Given the description of an element on the screen output the (x, y) to click on. 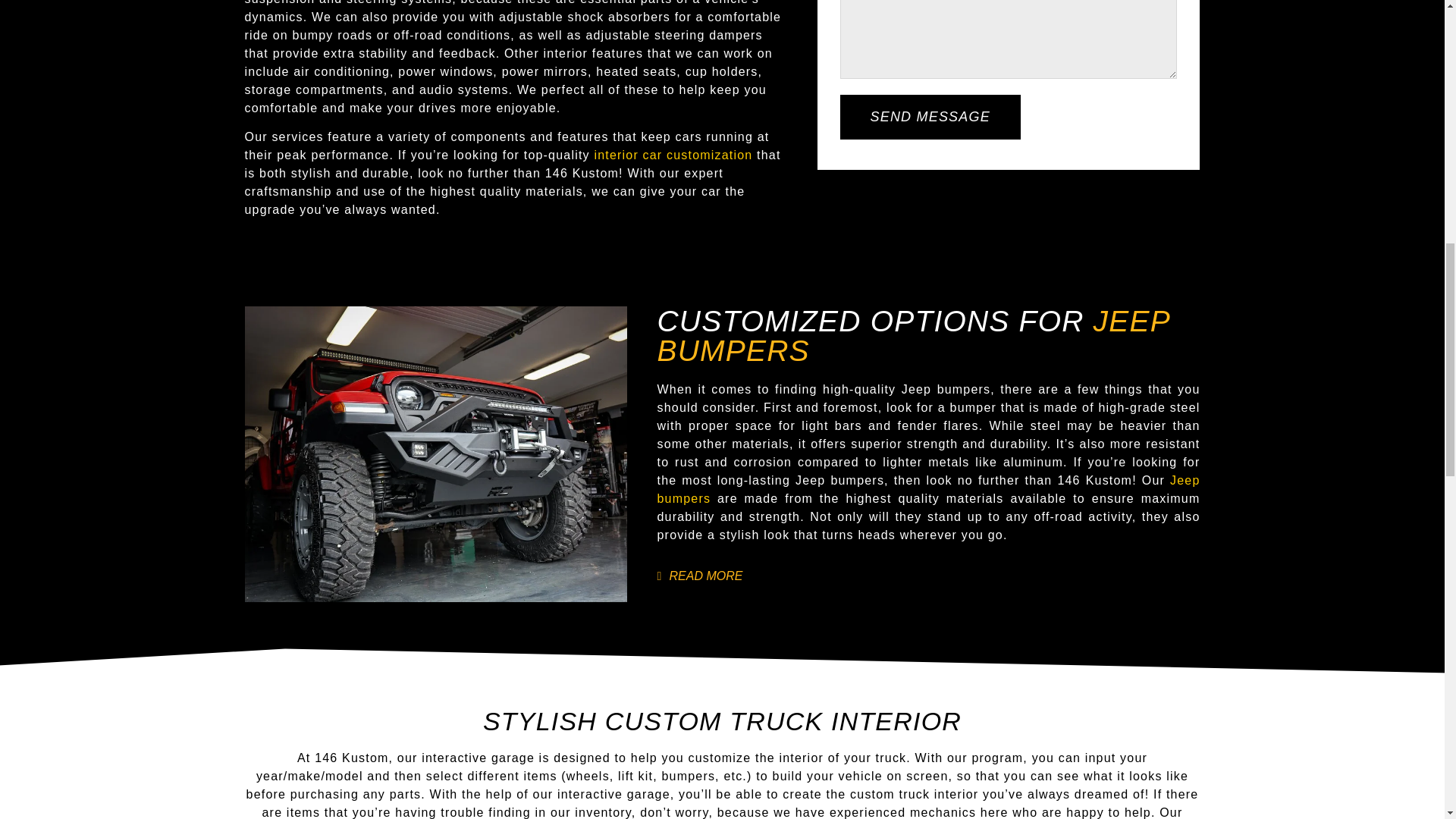
interior car customization (673, 154)
 Jeep bumpers (927, 489)
SEND MESSAGE (930, 117)
